Given the description of an element on the screen output the (x, y) to click on. 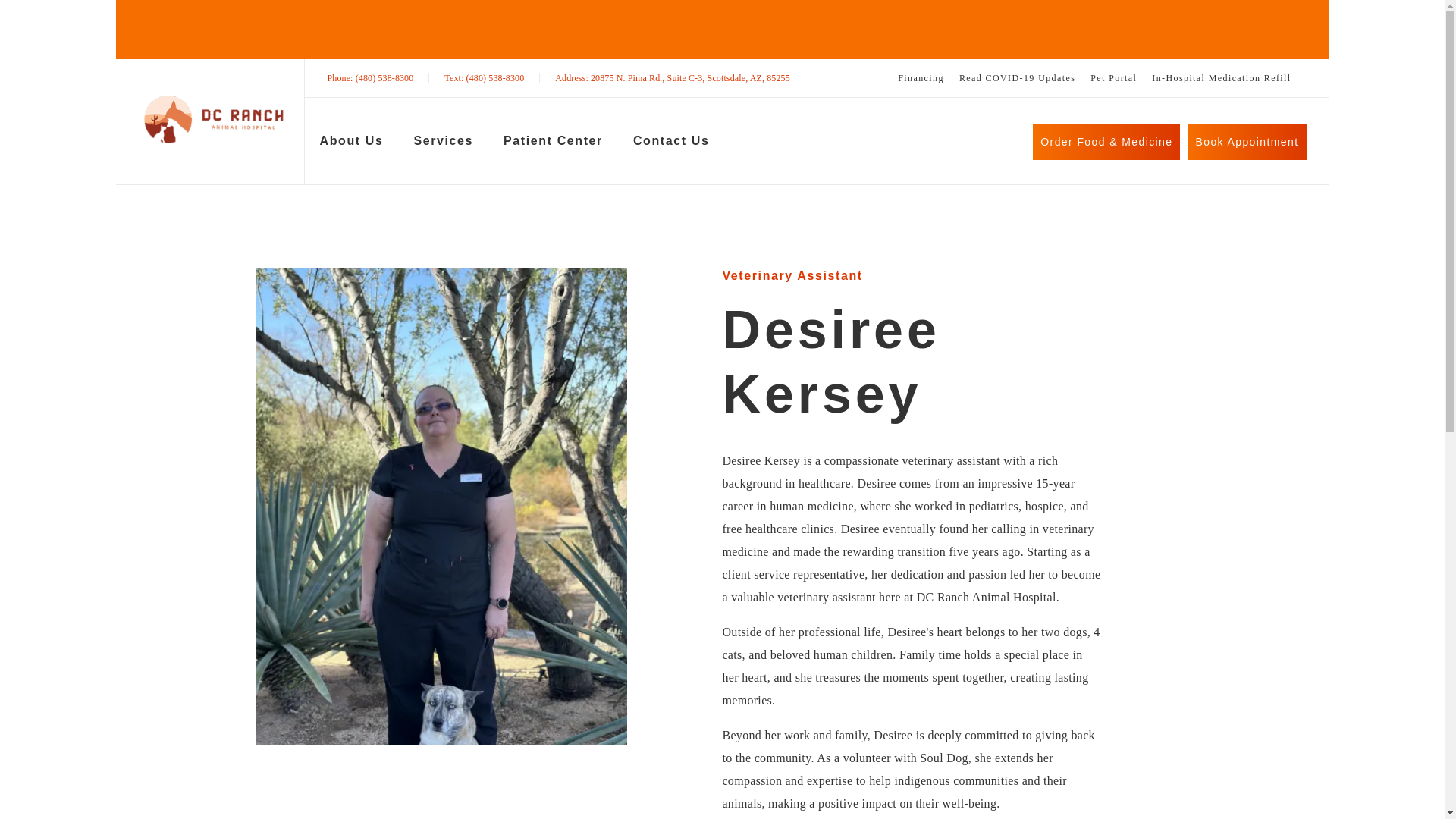
Read COVID-19 Updates (1017, 77)
Logo (213, 118)
Financing (920, 77)
Address: 20875 N. Pima Rd., Suite C-3, Scottsdale, AZ, 85255 (672, 77)
Pet Portal (1113, 77)
Book Appointment (1247, 140)
About Us (352, 144)
Patient Center (552, 144)
Pet Portal (672, 77)
